Given the description of an element on the screen output the (x, y) to click on. 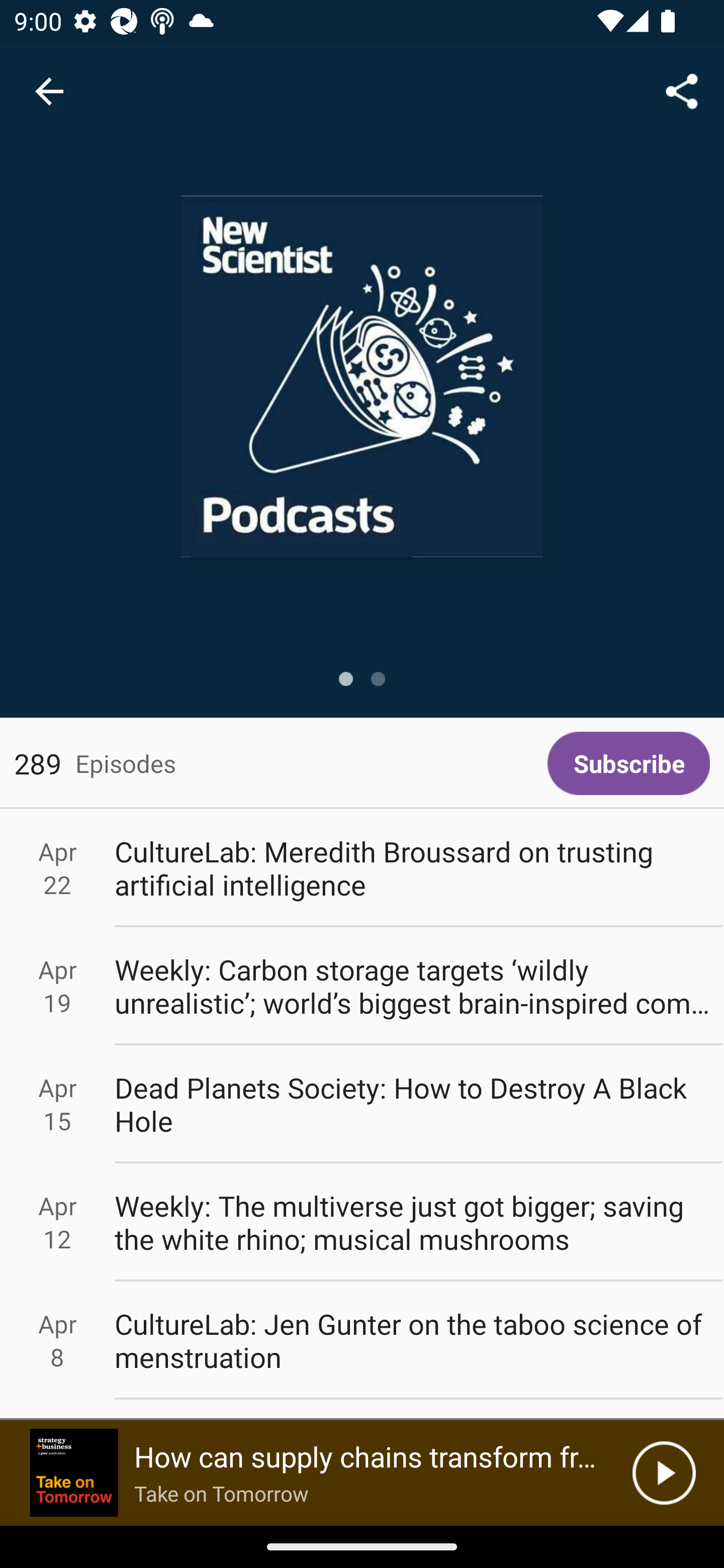
Navigate up (49, 91)
Share... (681, 90)
Subscribe (628, 763)
Play (663, 1472)
